Given the description of an element on the screen output the (x, y) to click on. 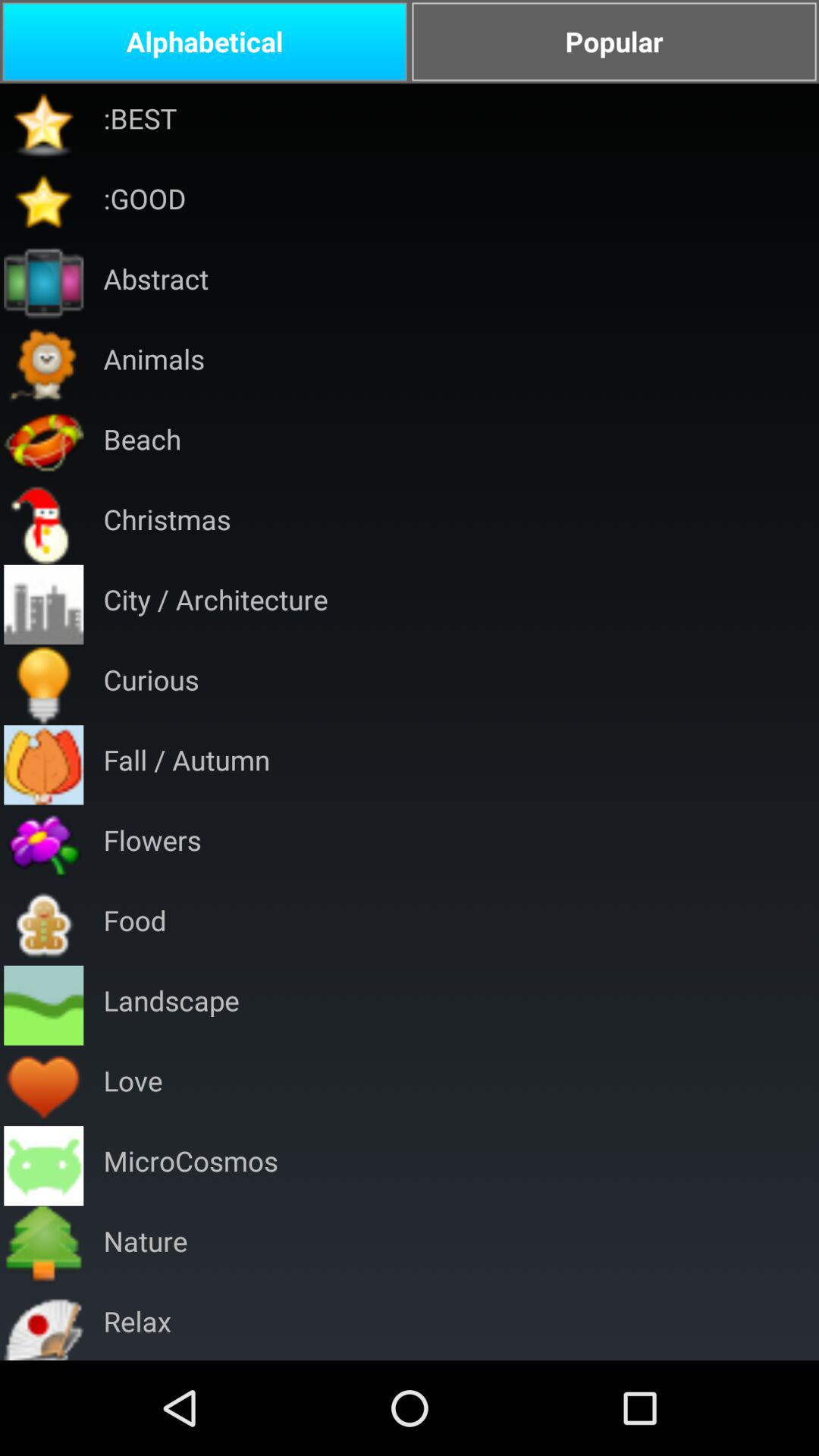
scroll until the microcosmos item (190, 1165)
